Given the description of an element on the screen output the (x, y) to click on. 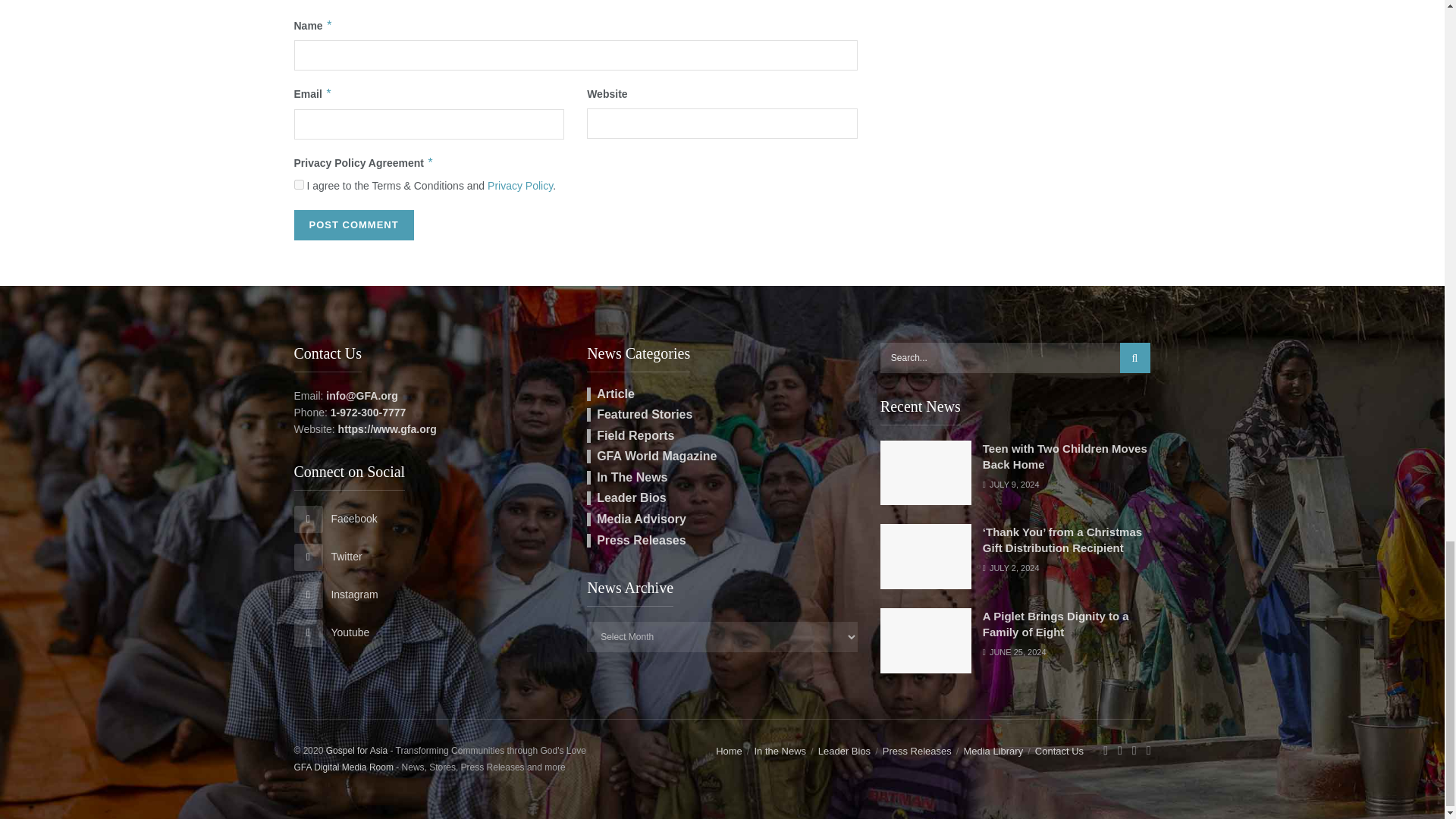
GFA Digital Media Room (343, 767)
Gospel for Asia (356, 750)
on (299, 184)
Post Comment (353, 224)
